Given the description of an element on the screen output the (x, y) to click on. 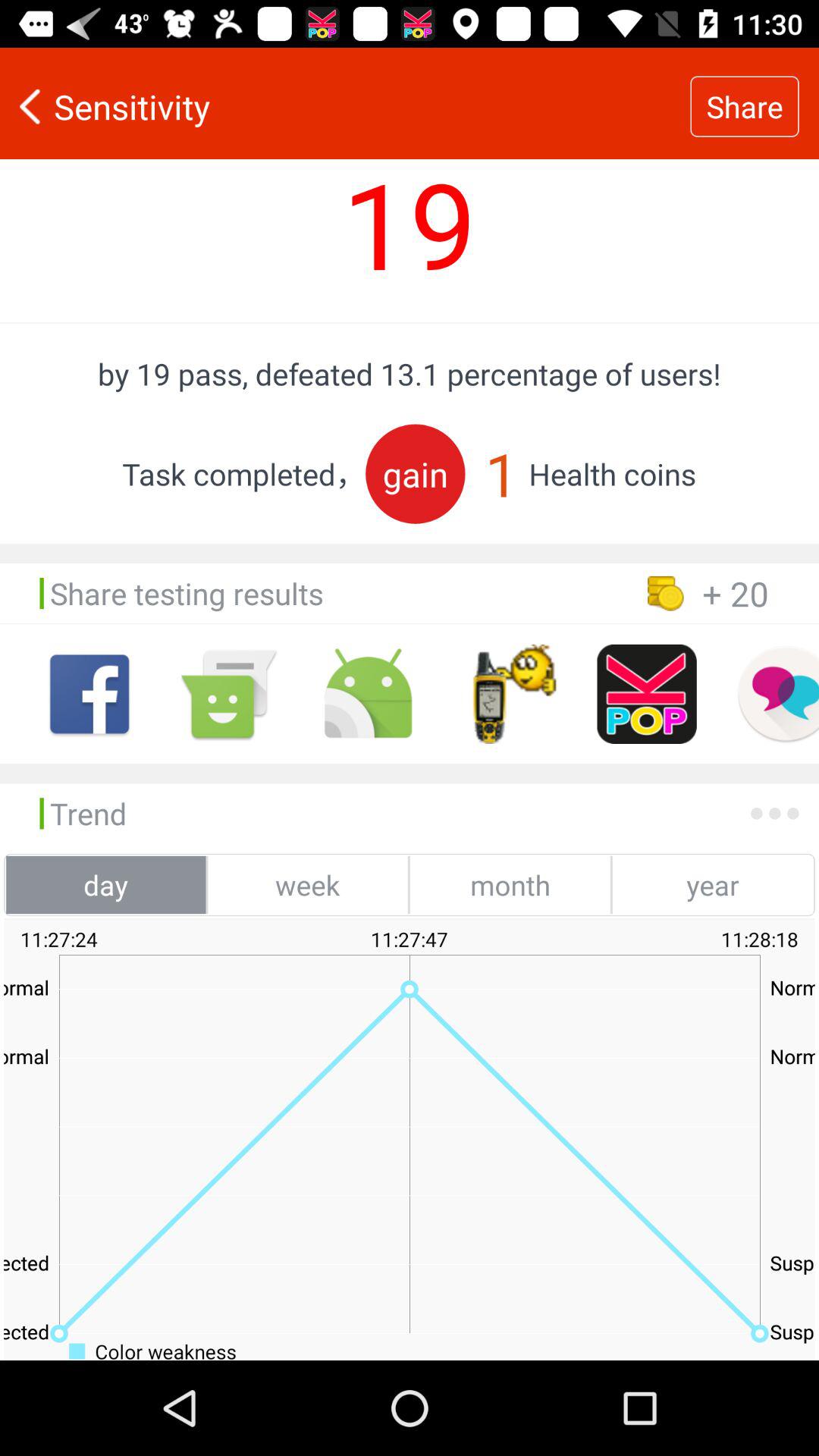
share via chat app (777, 693)
